Given the description of an element on the screen output the (x, y) to click on. 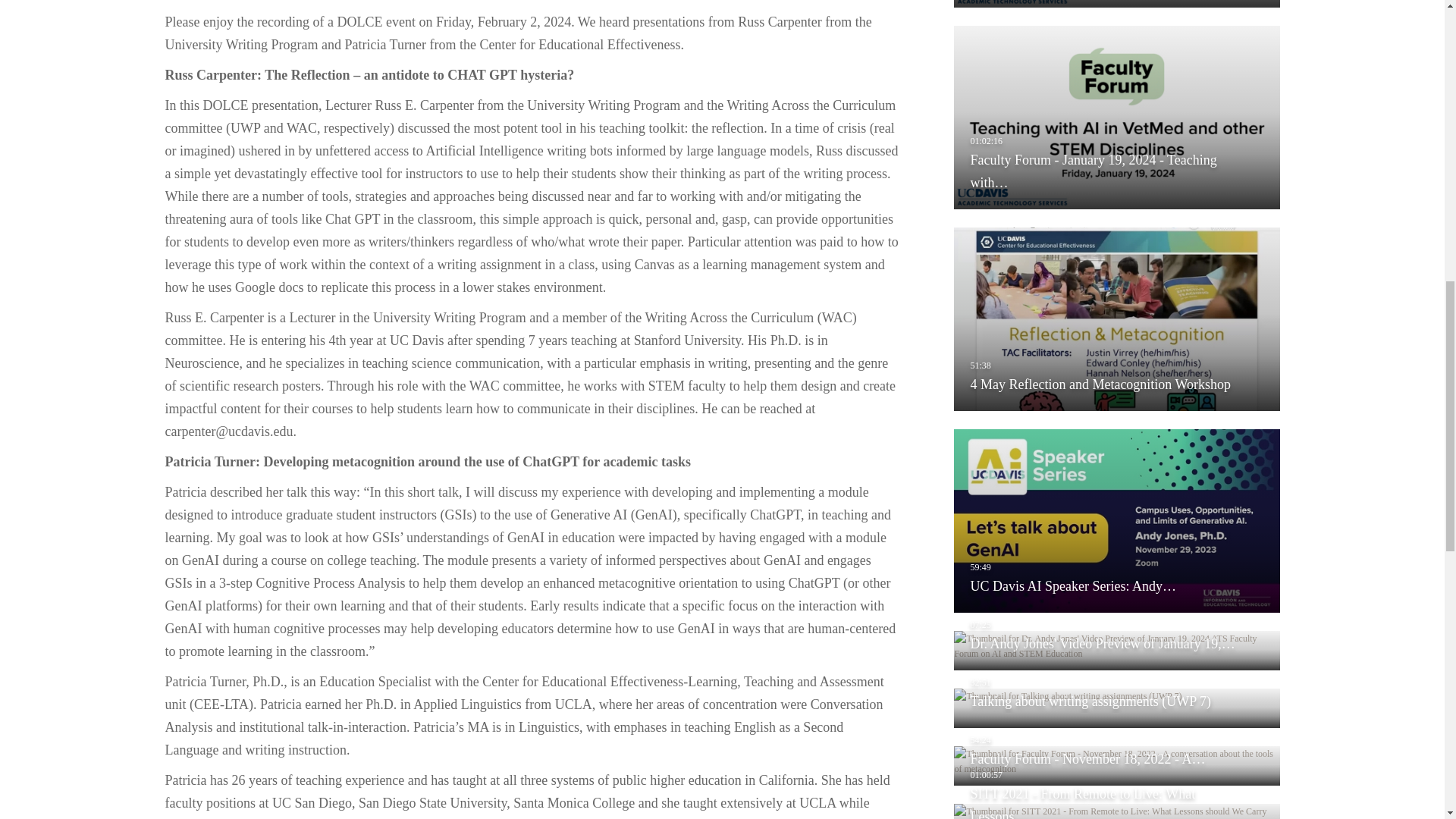
4 May Reflection and Metacognition Workshop (1116, 319)
